Given the description of an element on the screen output the (x, y) to click on. 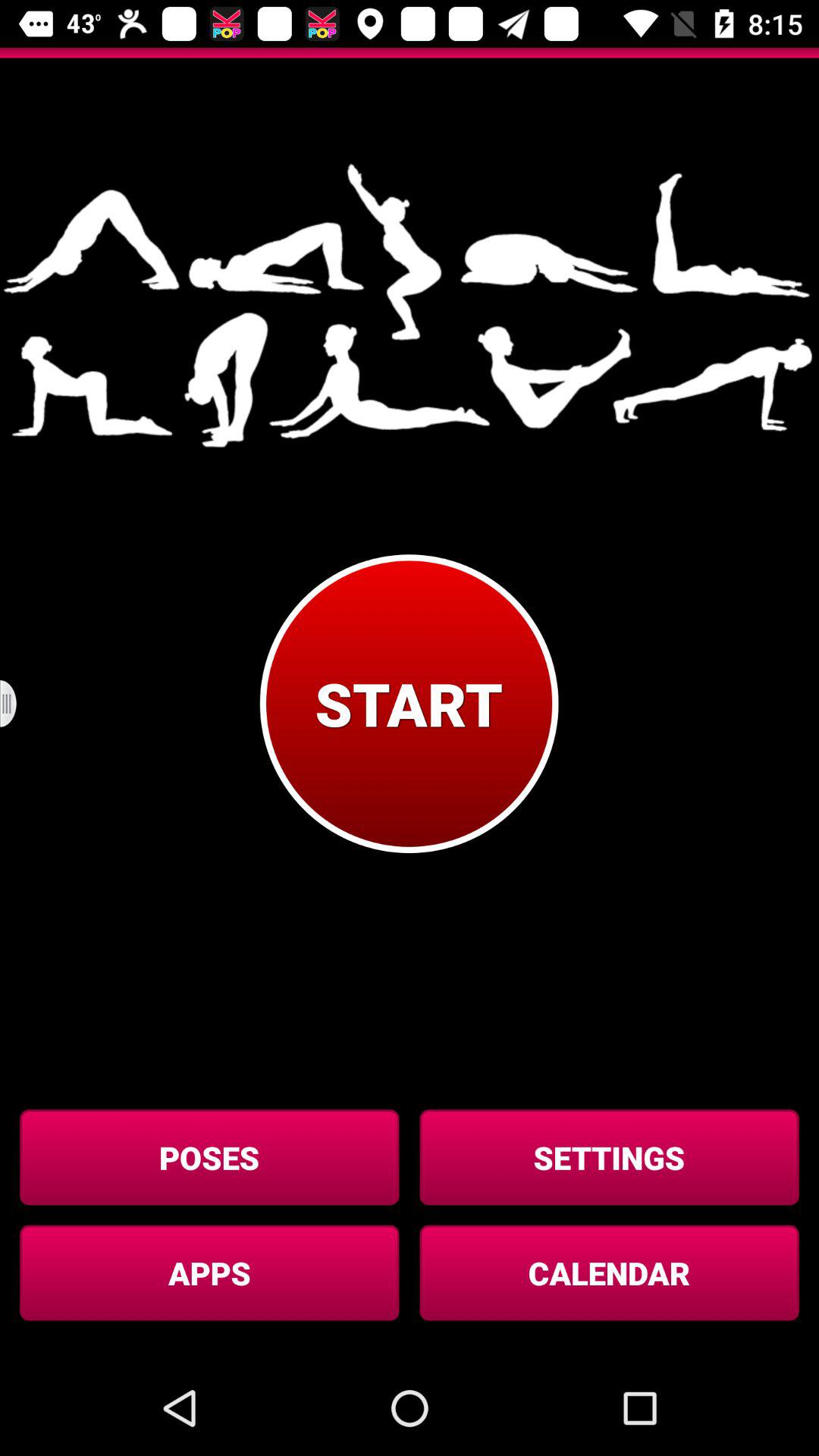
open the apps (209, 1272)
